Given the description of an element on the screen output the (x, y) to click on. 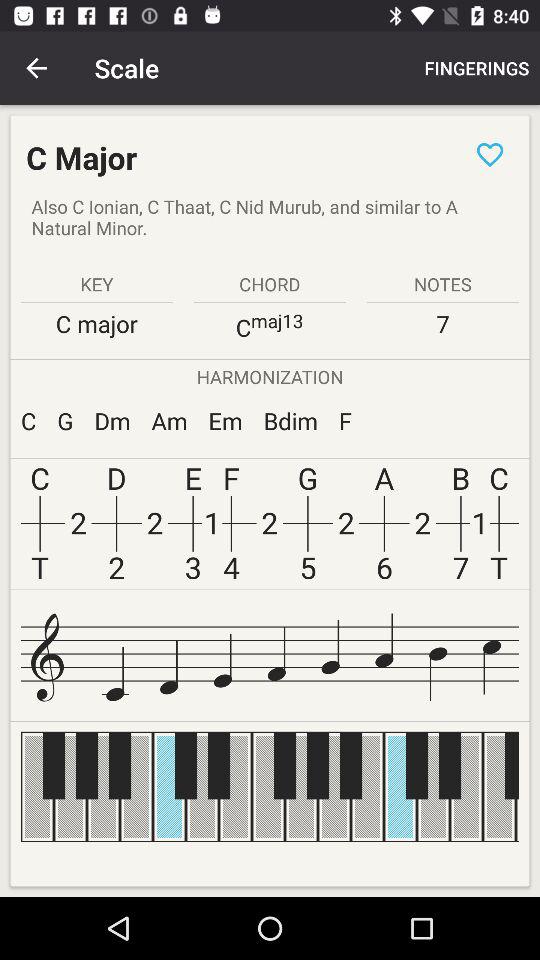
turn on icon below fingerings icon (490, 154)
